Given the description of an element on the screen output the (x, y) to click on. 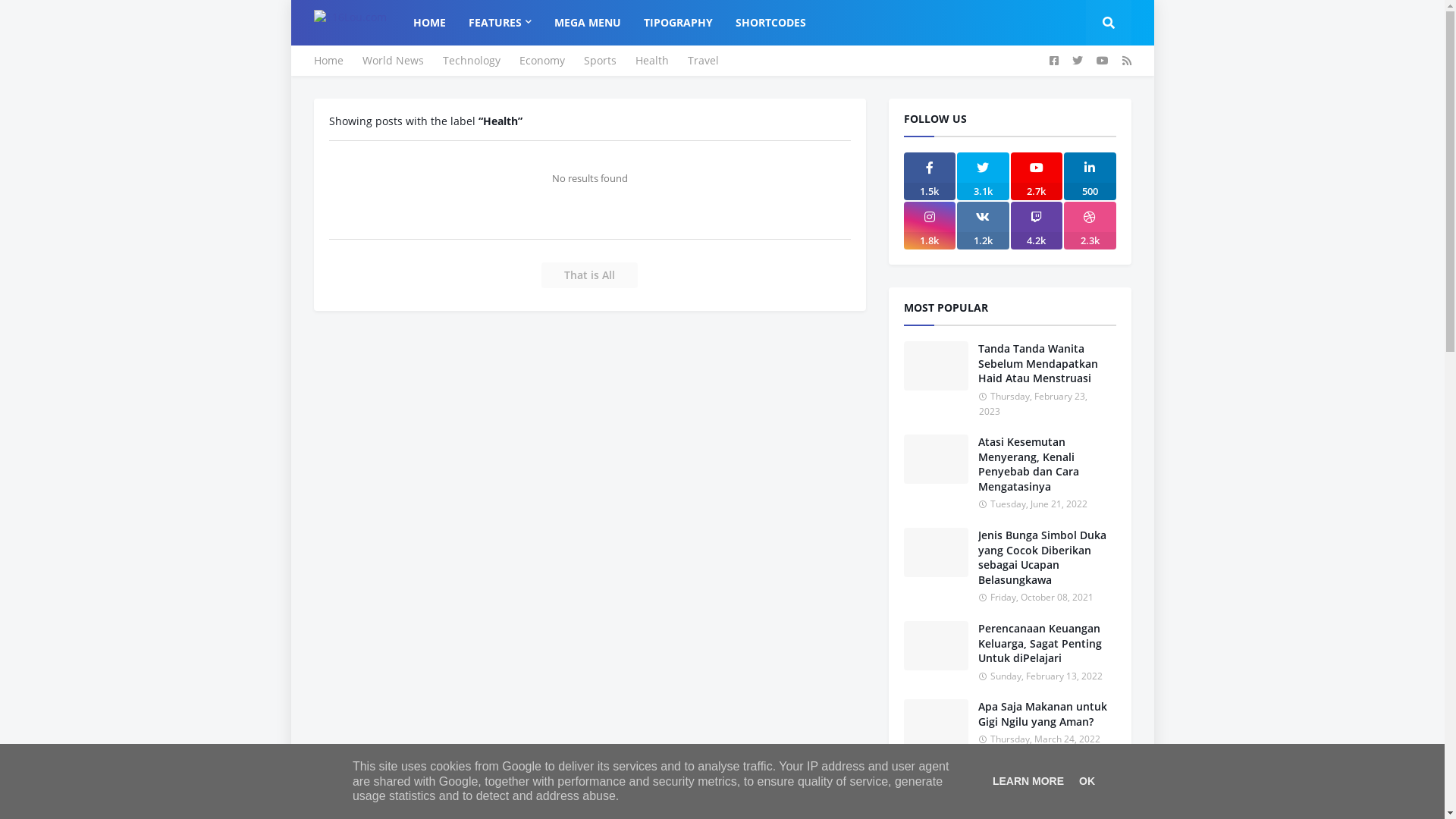
3.1k Element type: text (983, 176)
HOME Element type: text (429, 22)
Home Element type: text (328, 60)
Sports Element type: text (599, 60)
2.7k Element type: text (1036, 176)
SHORTCODES Element type: text (769, 22)
Apa Saja Makanan untuk Gigi Ngilu yang Aman? Element type: text (1047, 713)
Technology Element type: text (471, 60)
4.2k Element type: text (1036, 225)
Tanda Tanda Wanita Sebelum Mendapatkan Haid Atau Menstruasi Element type: text (1047, 363)
1.2k Element type: text (983, 225)
2.3k Element type: text (1089, 225)
1.5k Element type: text (929, 176)
1.8k Element type: text (929, 225)
Ok Element type: text (1104, 59)
World News Element type: text (392, 60)
LEARN MORE Element type: text (1028, 781)
TIPOGRAPHY Element type: text (678, 22)
Travel Element type: text (702, 60)
500 Element type: text (1089, 176)
Health Element type: text (651, 60)
MEGA MENU Element type: text (587, 22)
FEATURES Element type: text (499, 22)
Economy Element type: text (541, 60)
OK Element type: text (1086, 781)
